Given the description of an element on the screen output the (x, y) to click on. 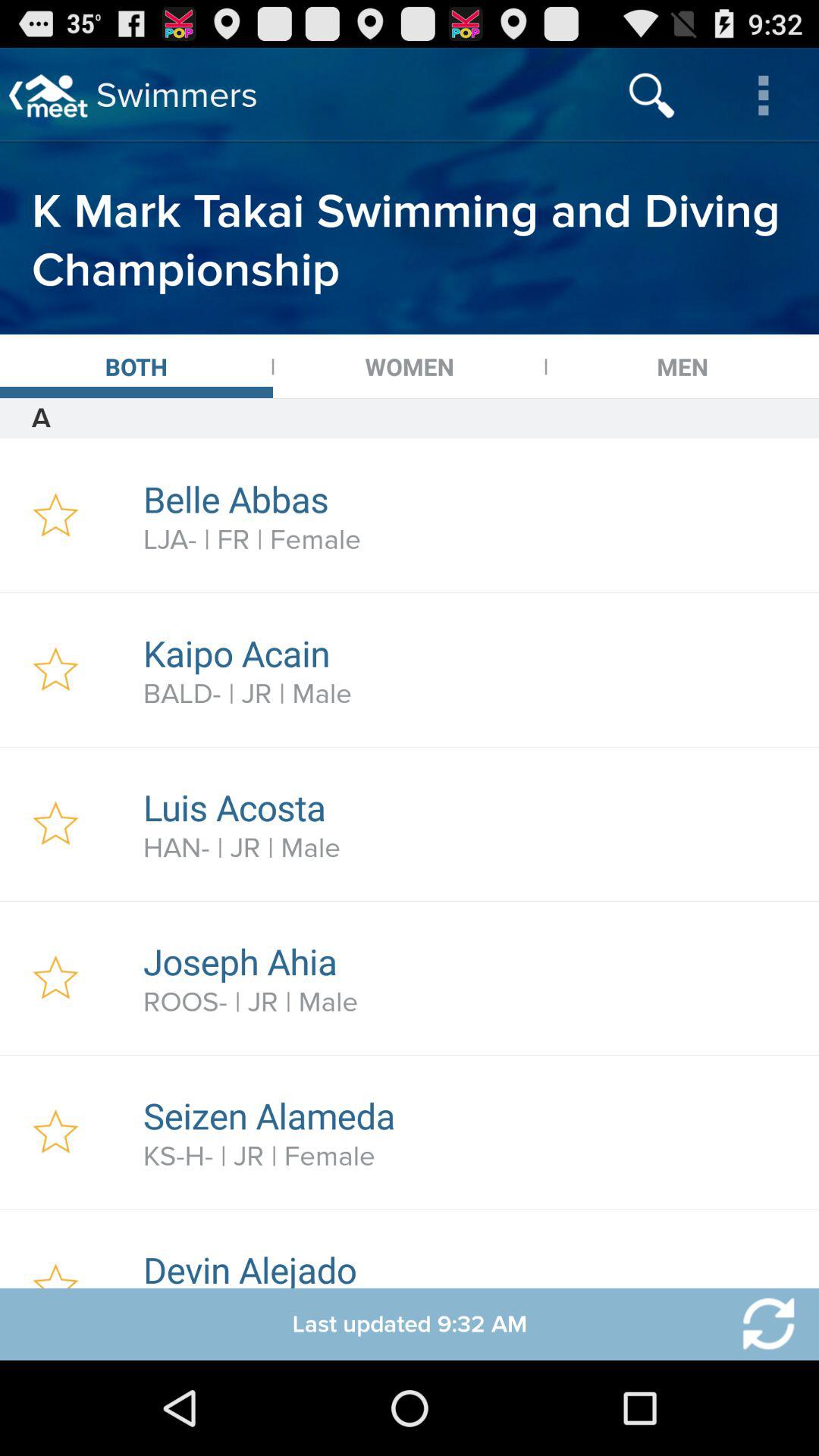
press the item above the han- | jr | male (473, 807)
